Given the description of an element on the screen output the (x, y) to click on. 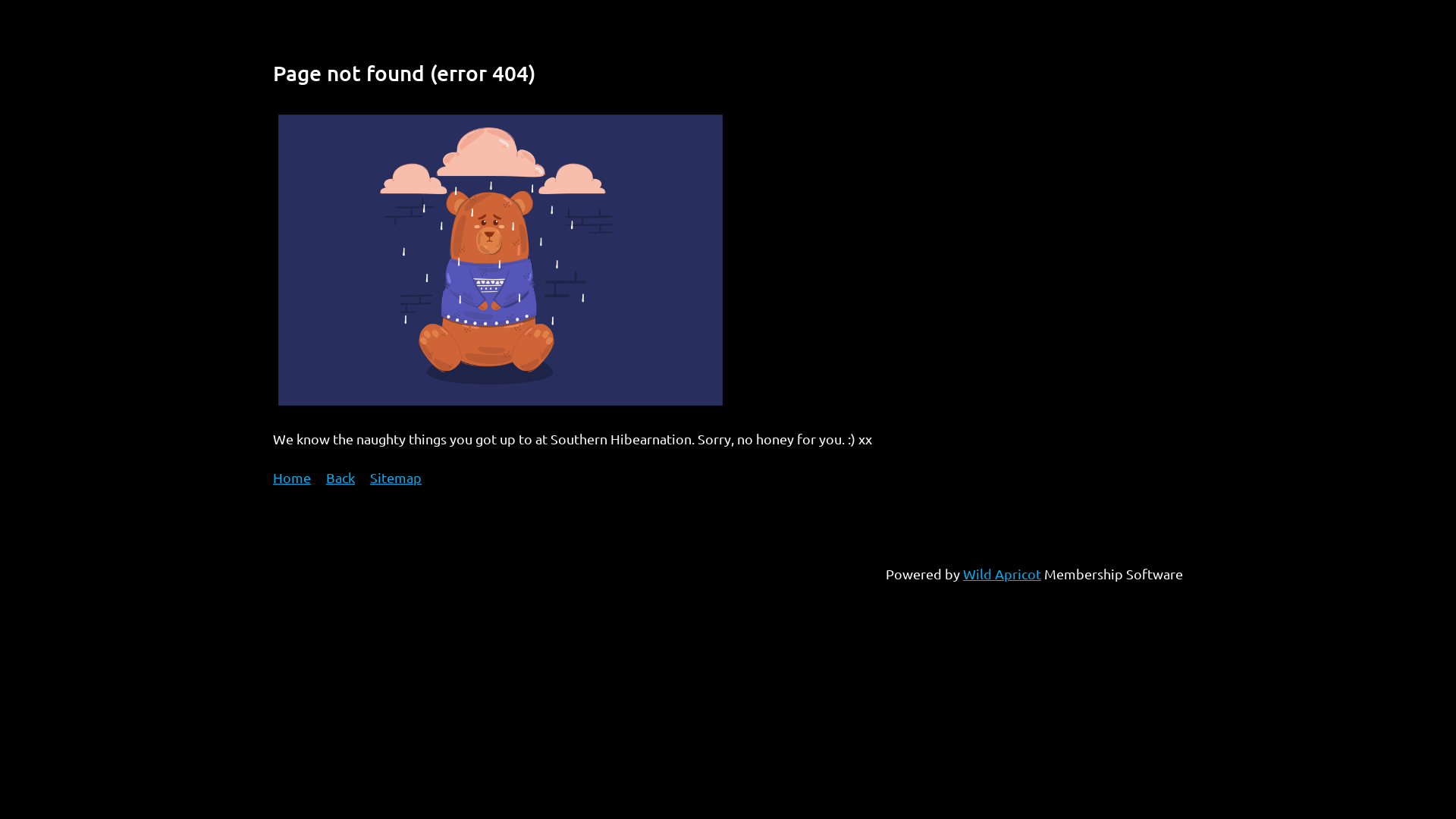
Wild Apricot Element type: text (1002, 573)
Back Element type: text (340, 477)
Home Element type: text (291, 477)
Sitemap Element type: text (395, 477)
